Given the description of an element on the screen output the (x, y) to click on. 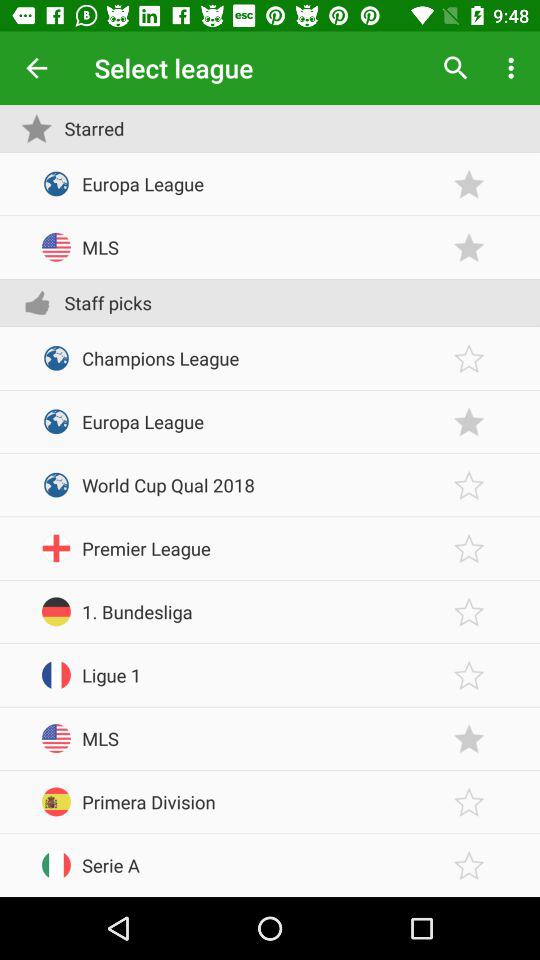
set favorite (469, 801)
